Given the description of an element on the screen output the (x, y) to click on. 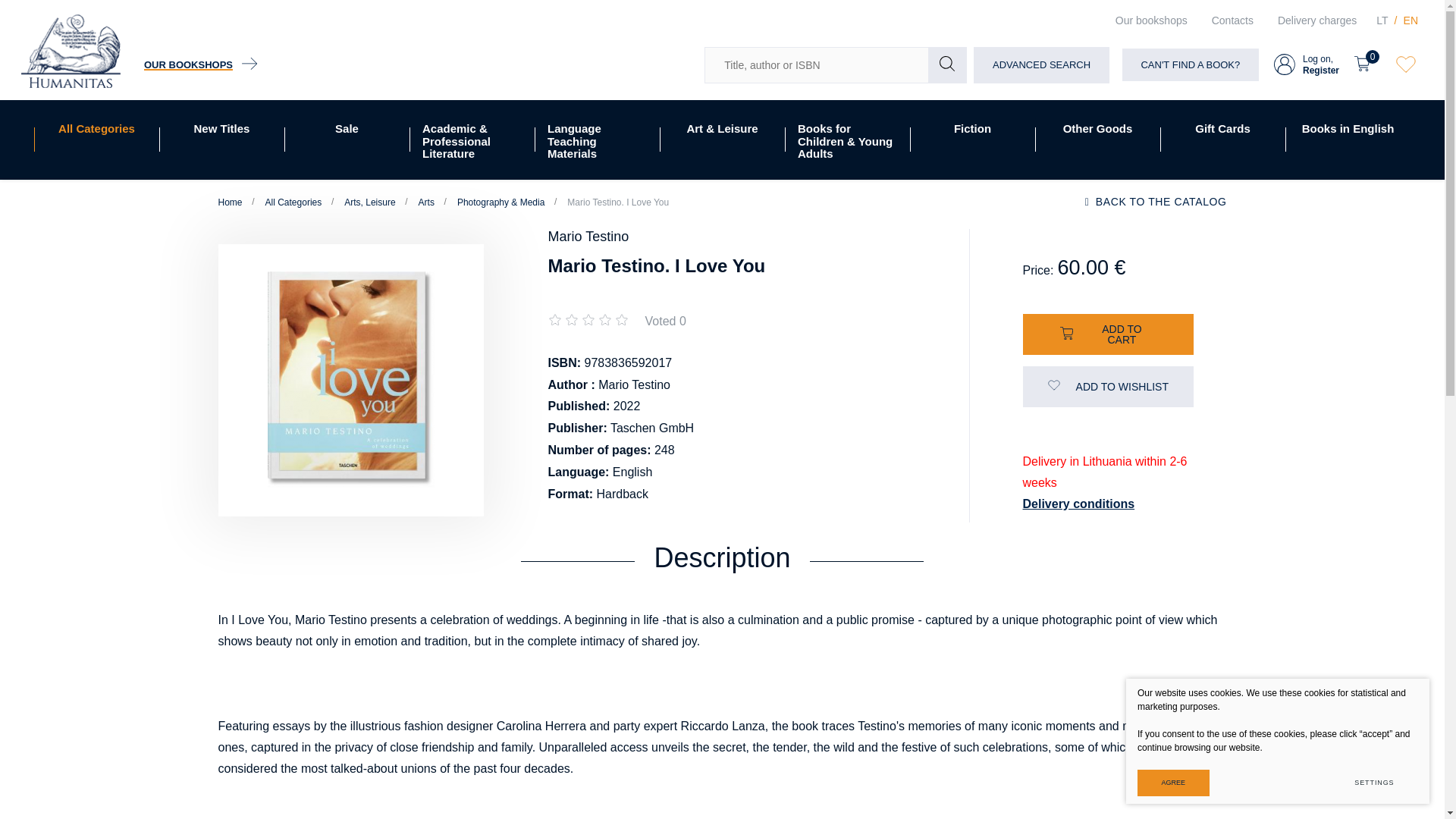
Our bookshops (1151, 20)
Contacts (1232, 20)
ADVANCED SEARCH (1041, 64)
EN (1306, 64)
LT (1410, 20)
Delivery charges (1381, 20)
All Categories (1316, 20)
Wishlist (96, 139)
0 (1405, 64)
OUR BOOKSHOPS (1366, 64)
CAN'T FIND A BOOK? (200, 64)
